Given the description of an element on the screen output the (x, y) to click on. 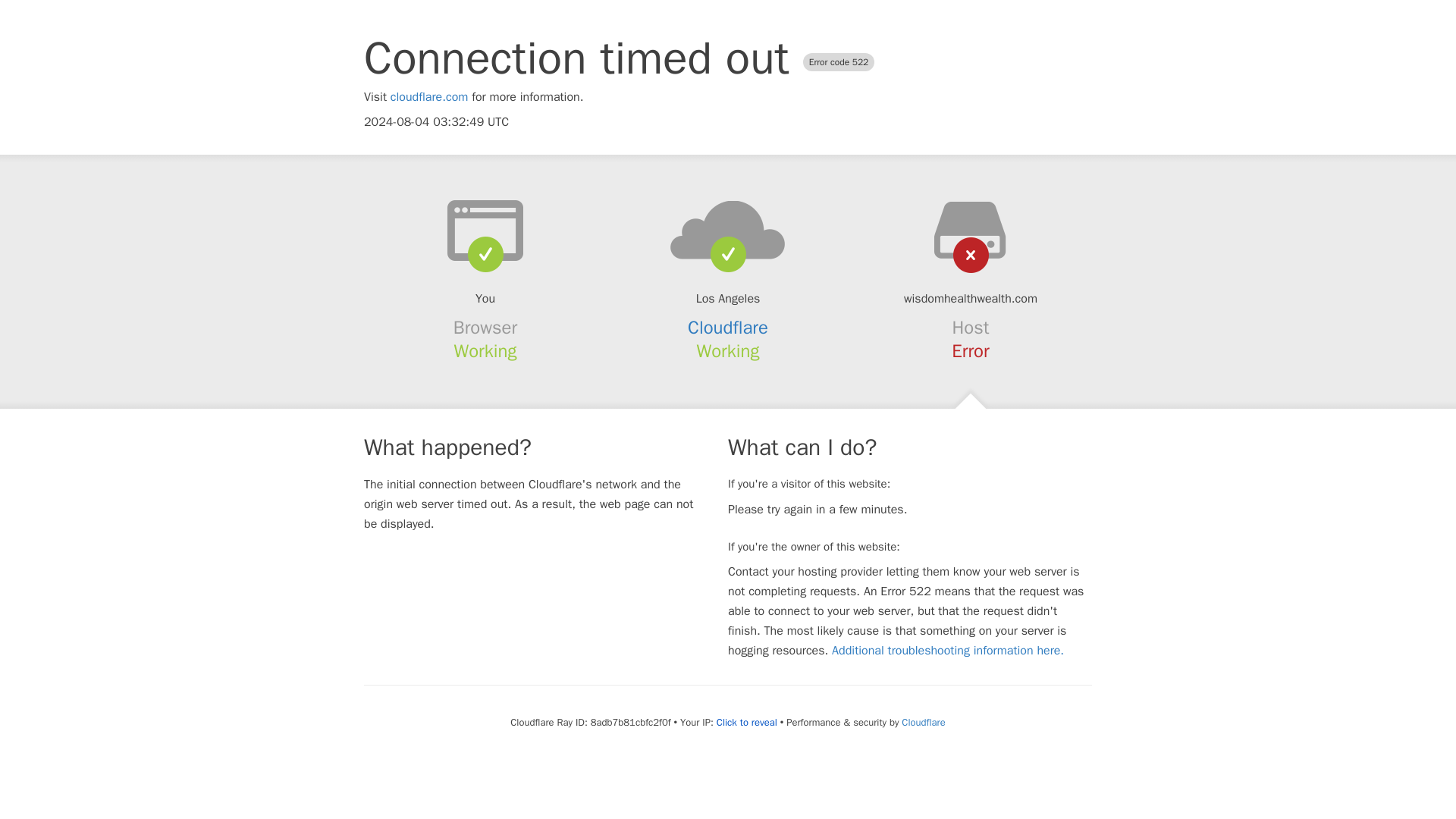
cloudflare.com (429, 96)
Additional troubleshooting information here. (947, 650)
Cloudflare (727, 327)
Cloudflare (922, 721)
Click to reveal (746, 722)
